Given the description of an element on the screen output the (x, y) to click on. 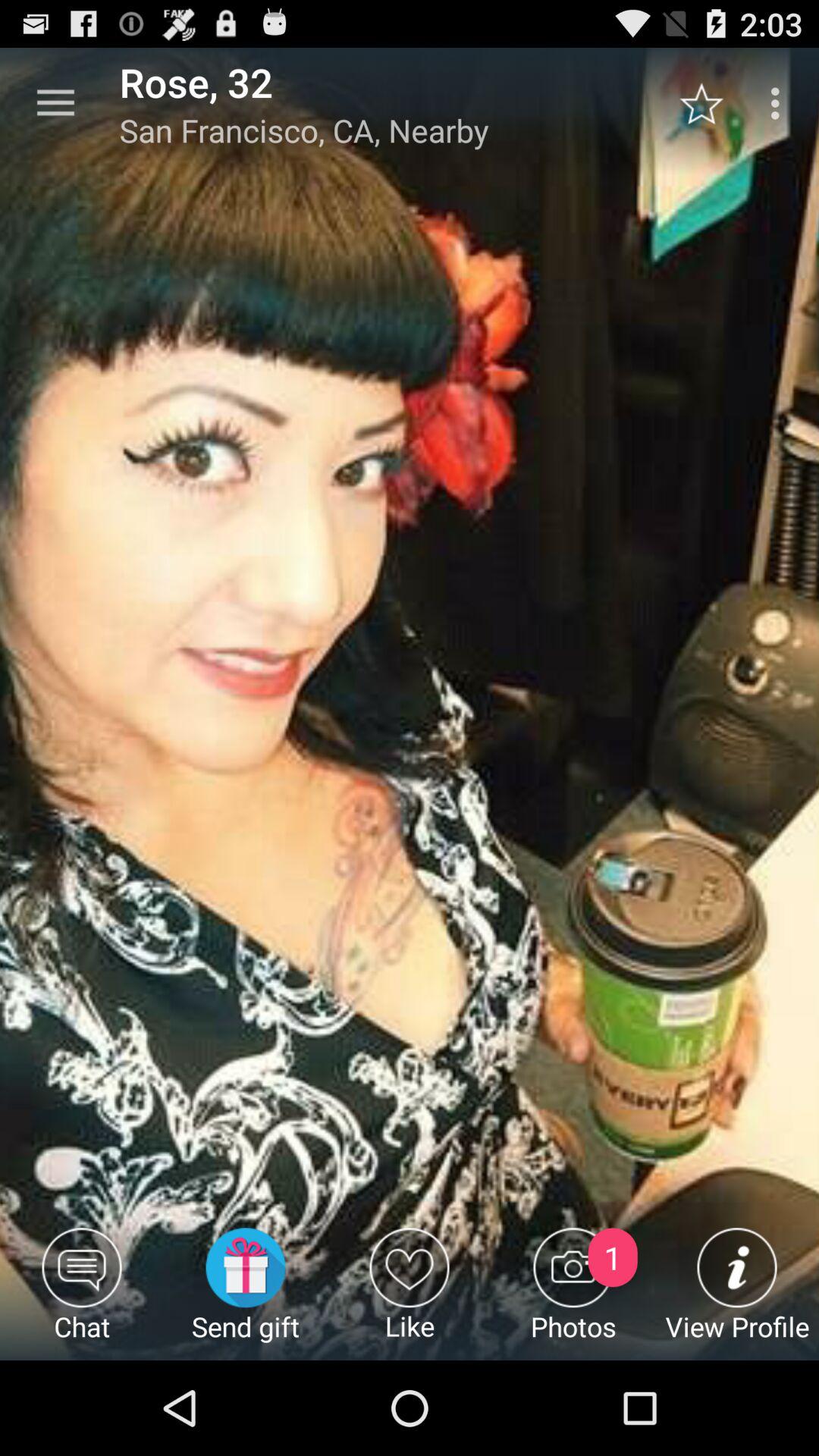
launch item next to the like (245, 1293)
